Given the description of an element on the screen output the (x, y) to click on. 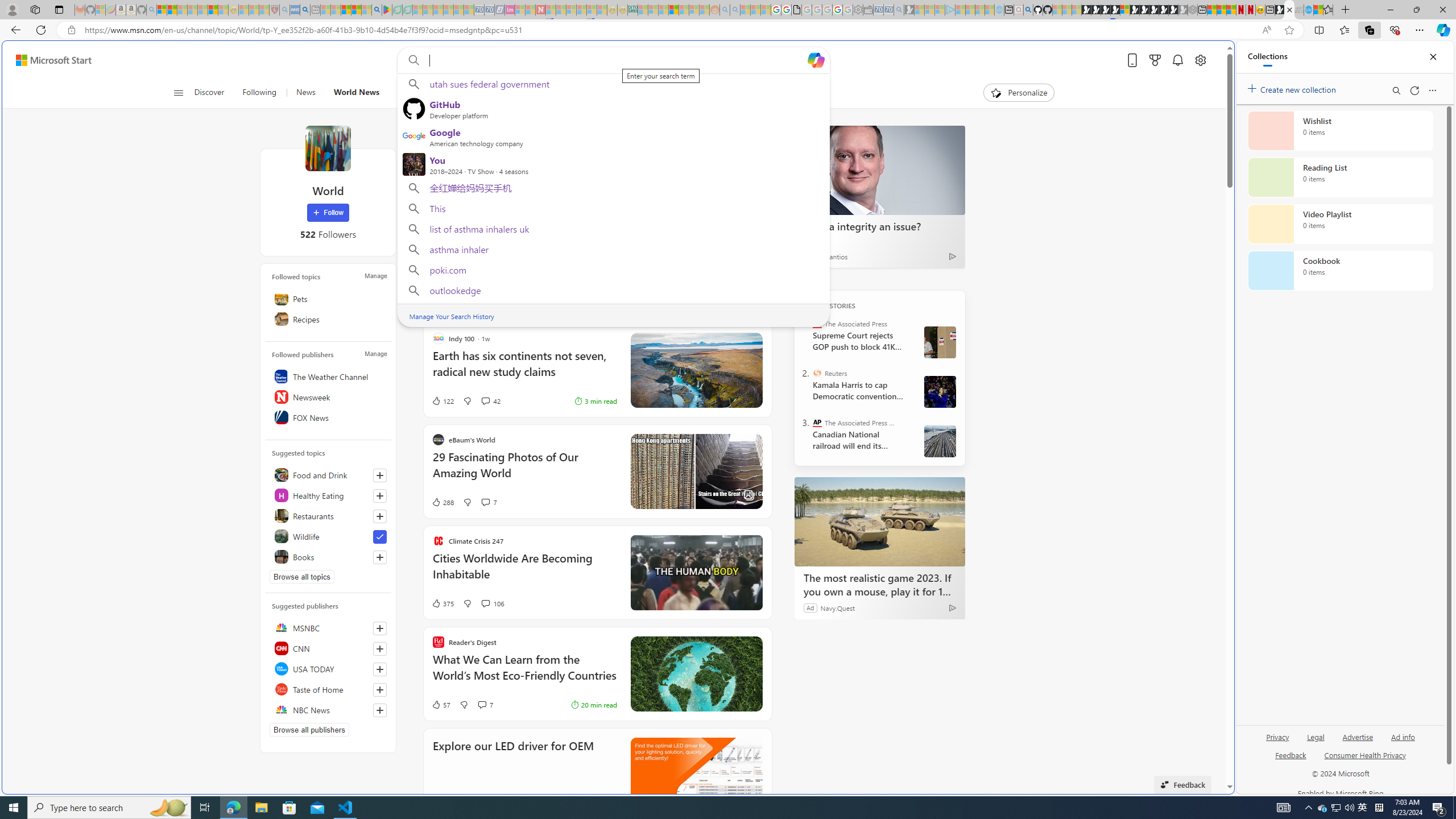
Services - Maintenance | Sky Blue Bikes - Sky Blue Bikes (1307, 9)
Bluey: Let's Play! - Apps on Google Play (387, 9)
